Given the description of an element on the screen output the (x, y) to click on. 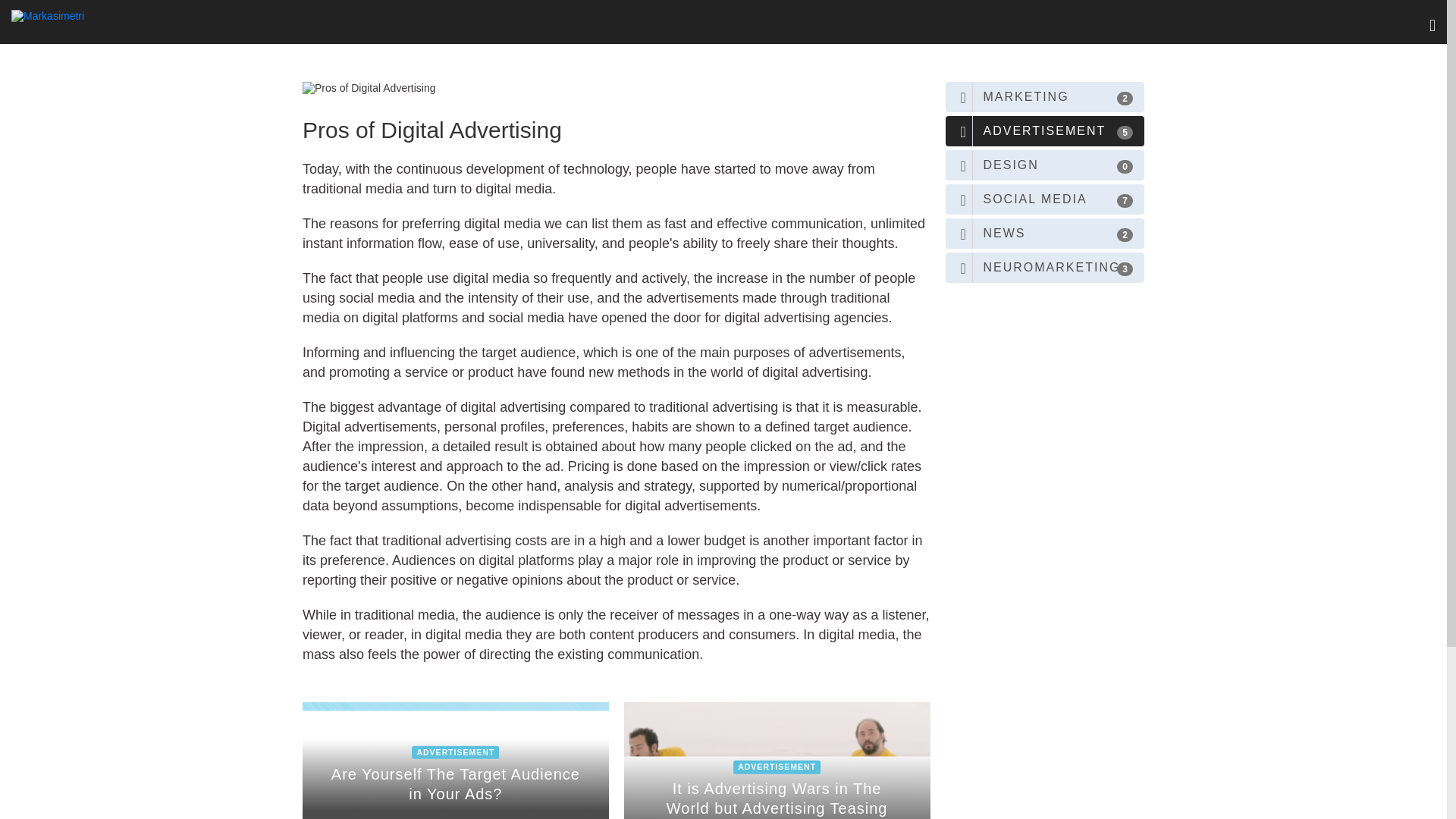
NEUROMARKETING (1044, 267)
DESIGN (1044, 164)
ADVERTISEMENT (1044, 131)
Are Yourself The Target Audience in Your Ads? (455, 760)
MARKETING (455, 760)
SOCIAL MEDIA (1044, 96)
NEWS (1044, 199)
